Given the description of an element on the screen output the (x, y) to click on. 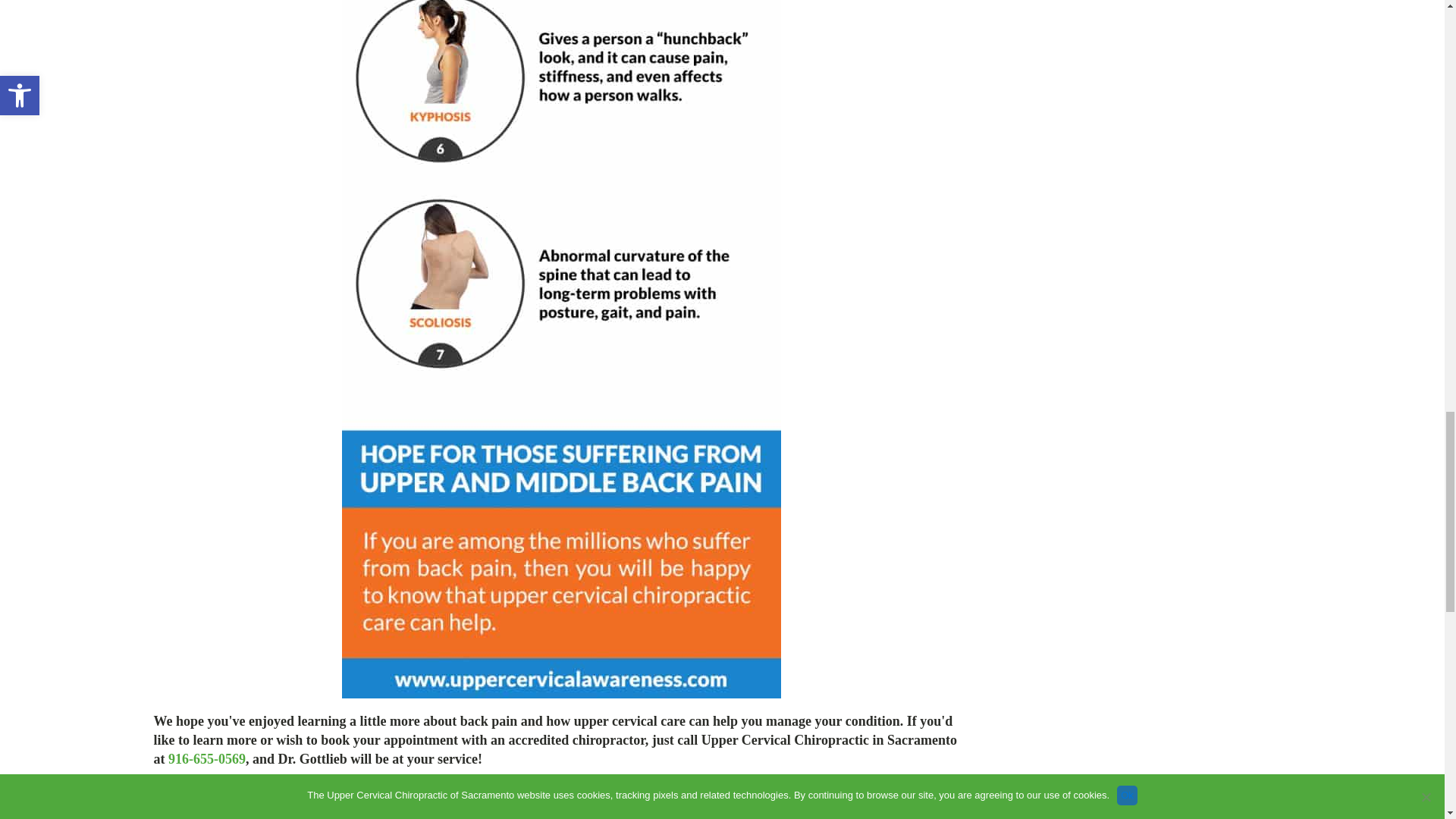
916-655-0569 (207, 758)
